Given the description of an element on the screen output the (x, y) to click on. 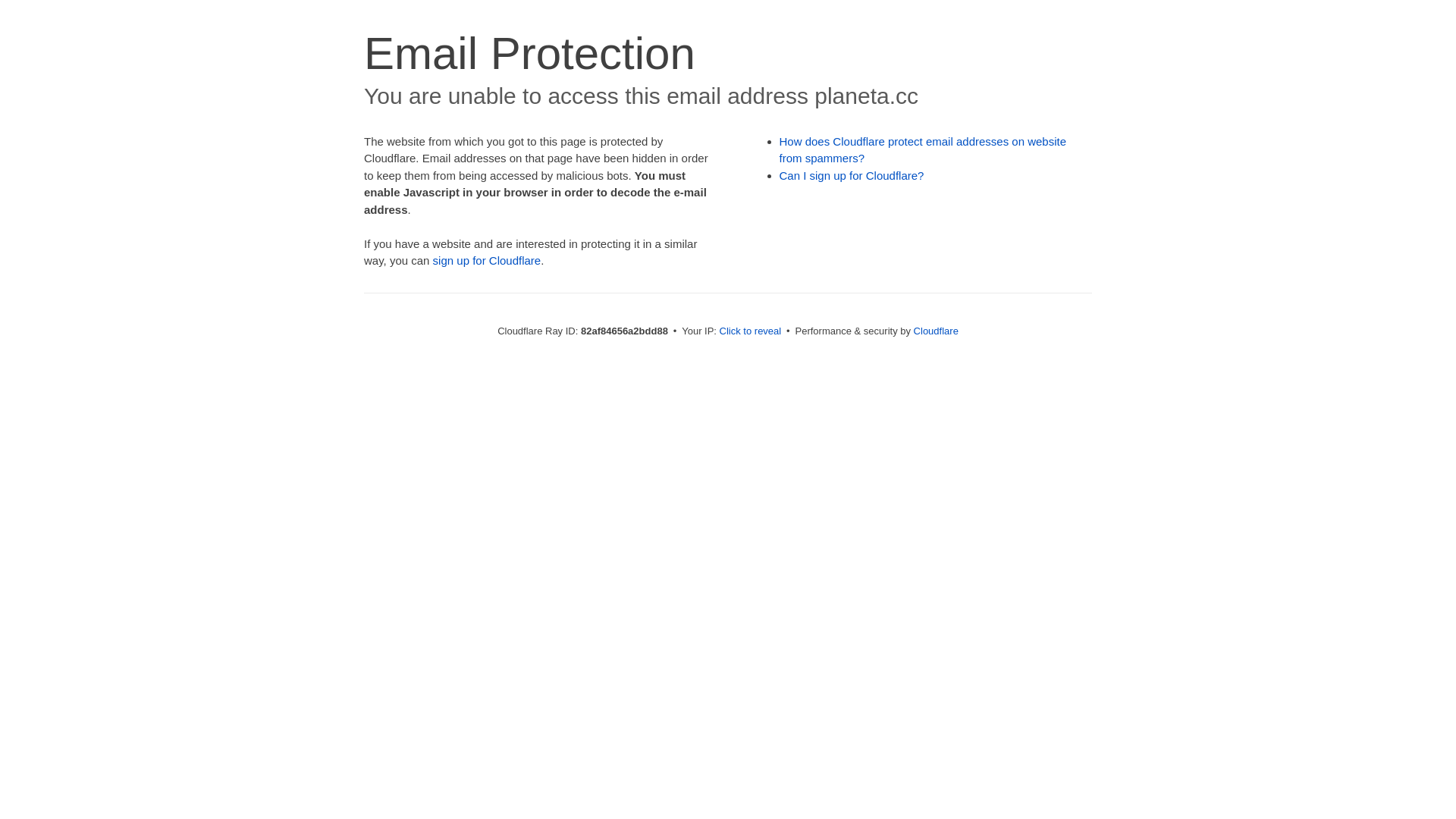
Can I sign up for Cloudflare? Element type: text (851, 175)
sign up for Cloudflare Element type: text (487, 260)
Click to reveal Element type: text (750, 330)
Cloudflare Element type: text (935, 330)
